Given the description of an element on the screen output the (x, y) to click on. 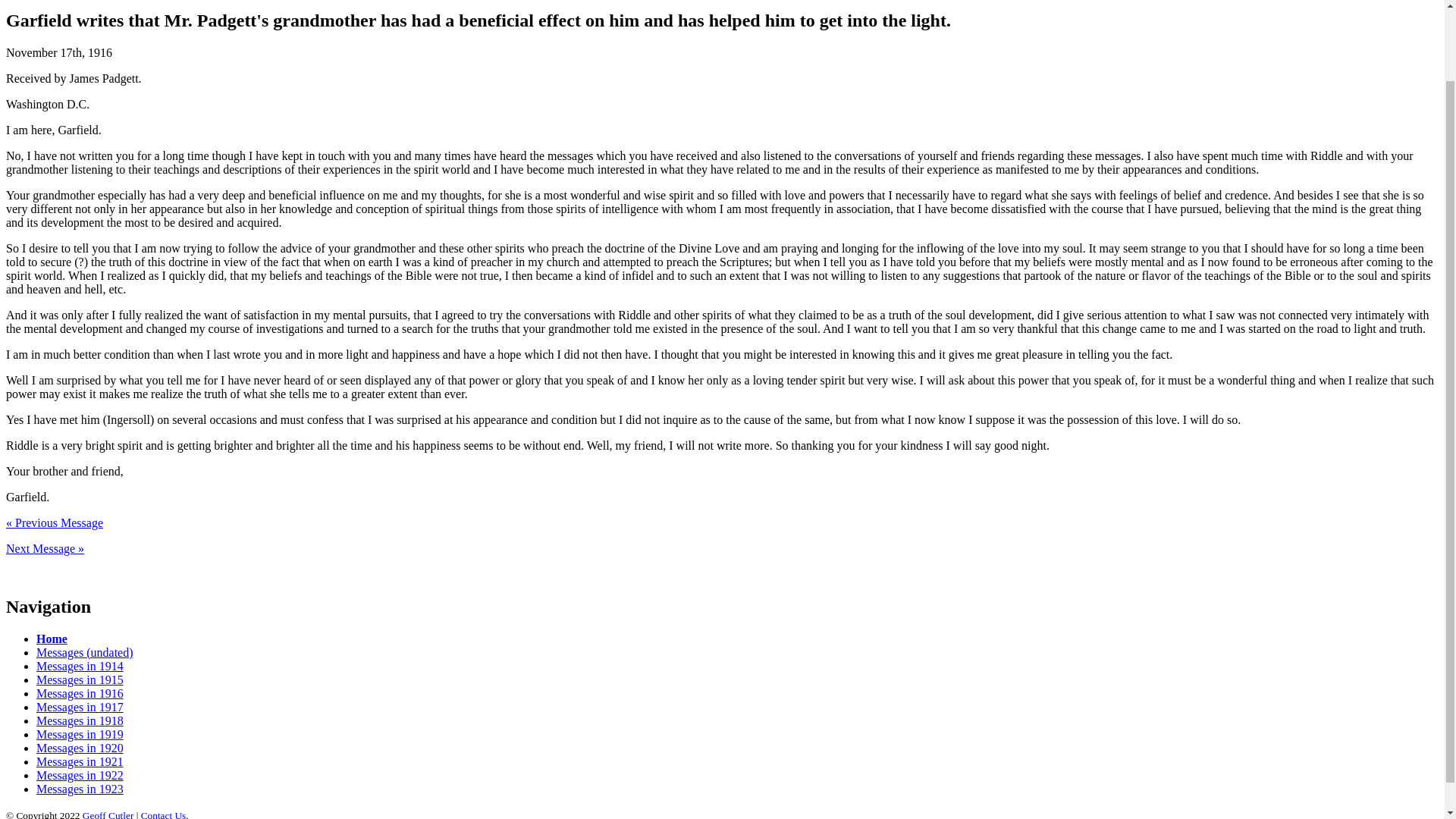
Messages in 1918 (79, 720)
Messages in 1916 (79, 693)
Home (51, 638)
Messages in 1917 (79, 707)
Messages in 1915 (79, 679)
Messages in 1921 (79, 761)
Messages in 1914 (79, 666)
Messages in 1923 (79, 788)
Messages in 1922 (79, 775)
Messages in 1920 (79, 748)
Messages in 1919 (79, 734)
